Given the description of an element on the screen output the (x, y) to click on. 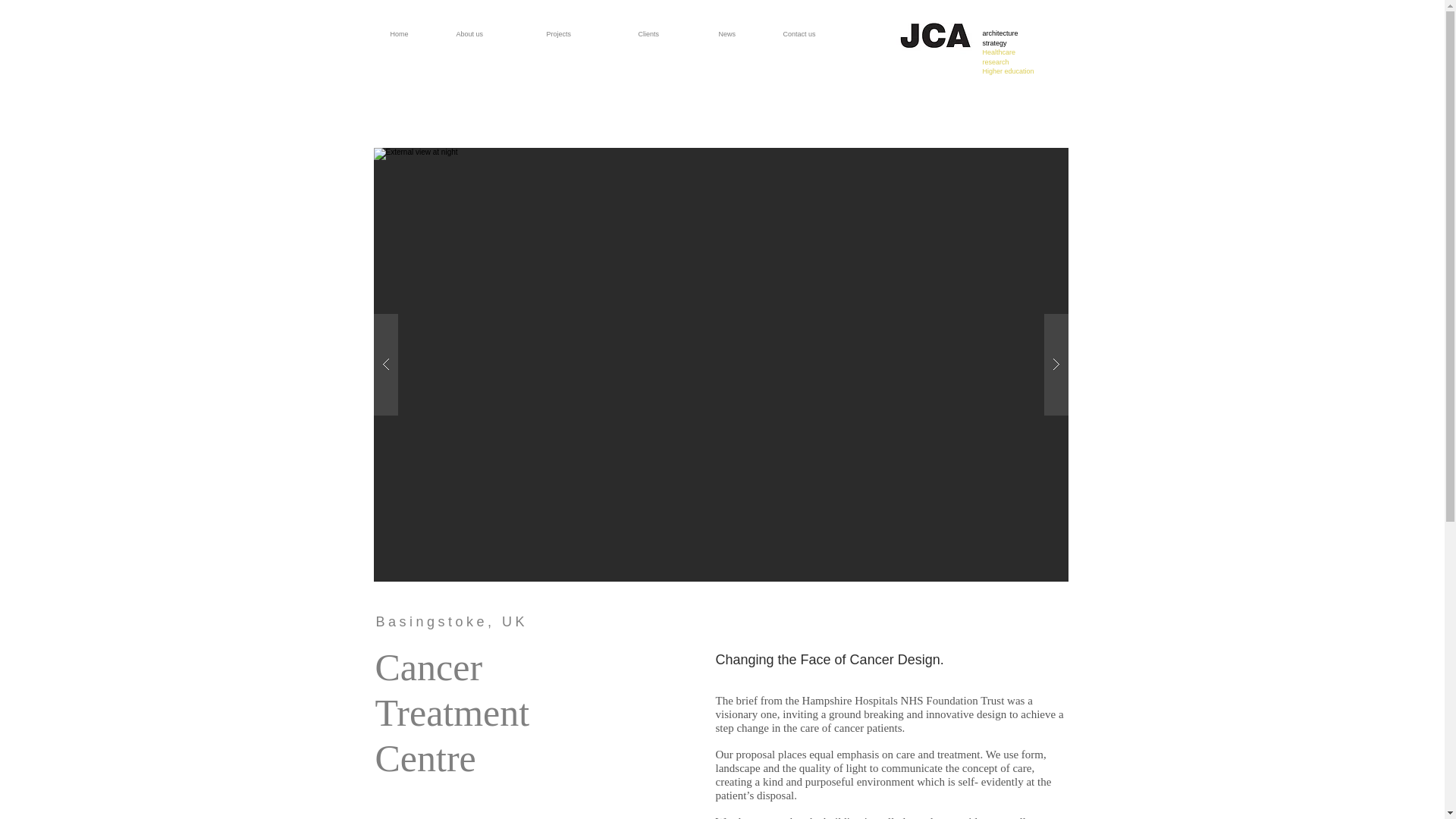
Home (416, 27)
Clients (672, 27)
About us (494, 27)
Projects (585, 27)
Contact us (1007, 52)
News (827, 27)
